Given the description of an element on the screen output the (x, y) to click on. 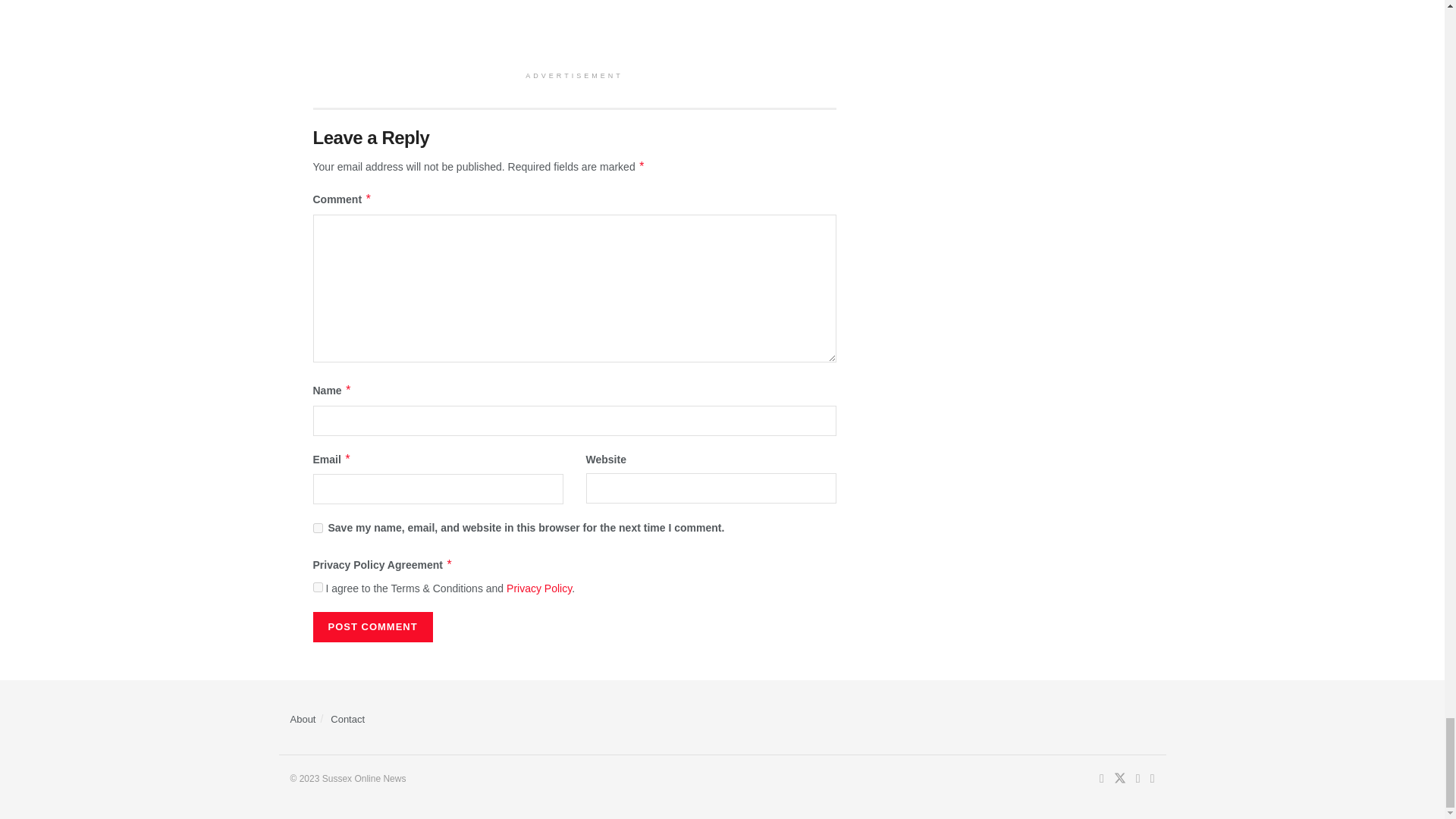
on (317, 587)
Post Comment (372, 626)
yes (317, 528)
